Given the description of an element on the screen output the (x, y) to click on. 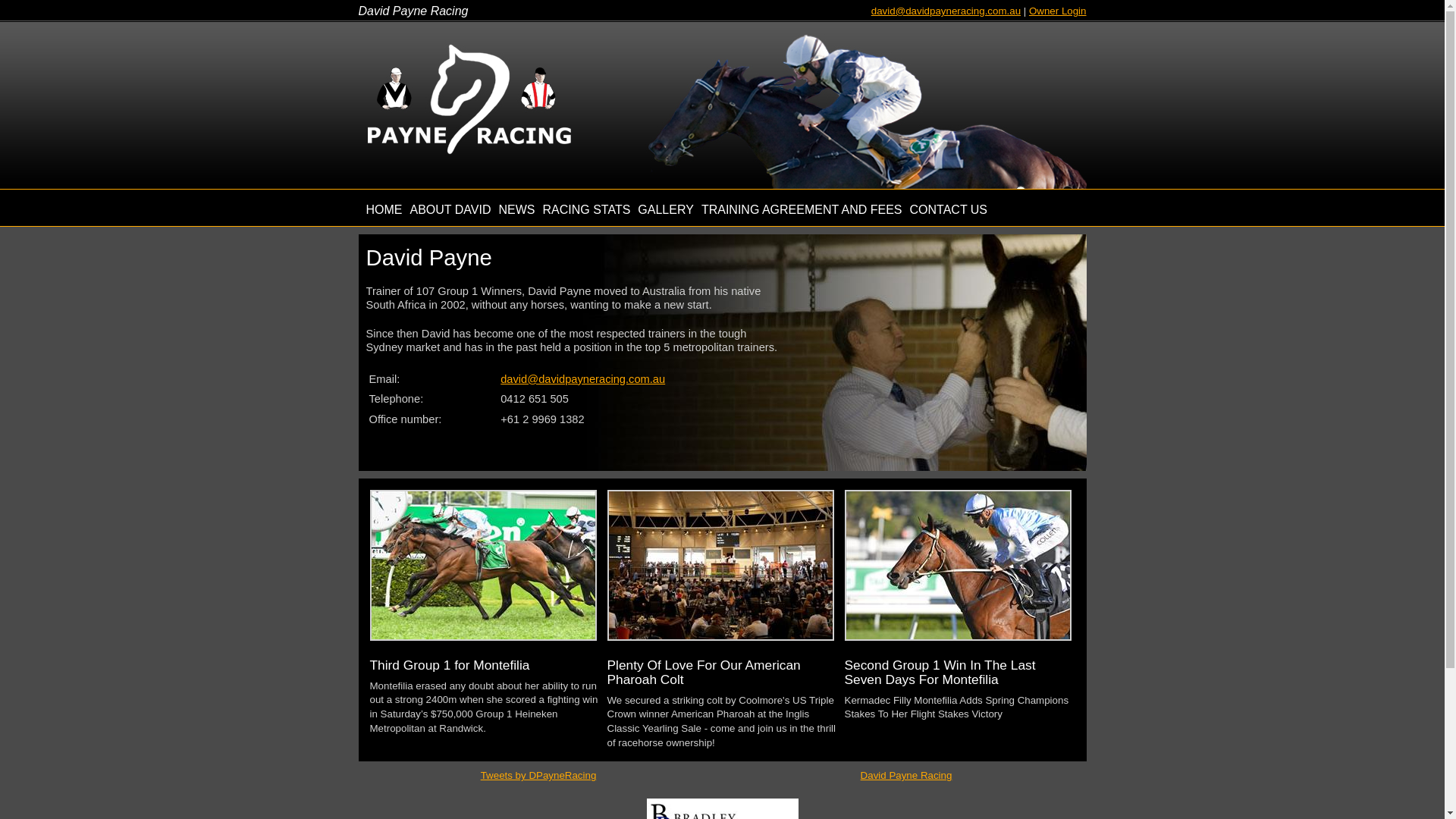
David Payne Racing Element type: text (906, 775)
ABOUT DAVID Element type: text (449, 209)
david@davidpayneracing.com.au Element type: text (582, 379)
CONTACT US Element type: text (949, 209)
Owner Login Element type: text (1057, 10)
RACING STATS Element type: text (586, 209)
NEWS Element type: text (516, 209)
david@davidpayneracing.com.au Element type: text (945, 10)
Tweets by DPayneRacing Element type: text (538, 775)
HOME Element type: text (383, 209)
TRAINING AGREEMENT AND FEES Element type: text (801, 209)
GALLERY Element type: text (665, 209)
